Given the description of an element on the screen output the (x, y) to click on. 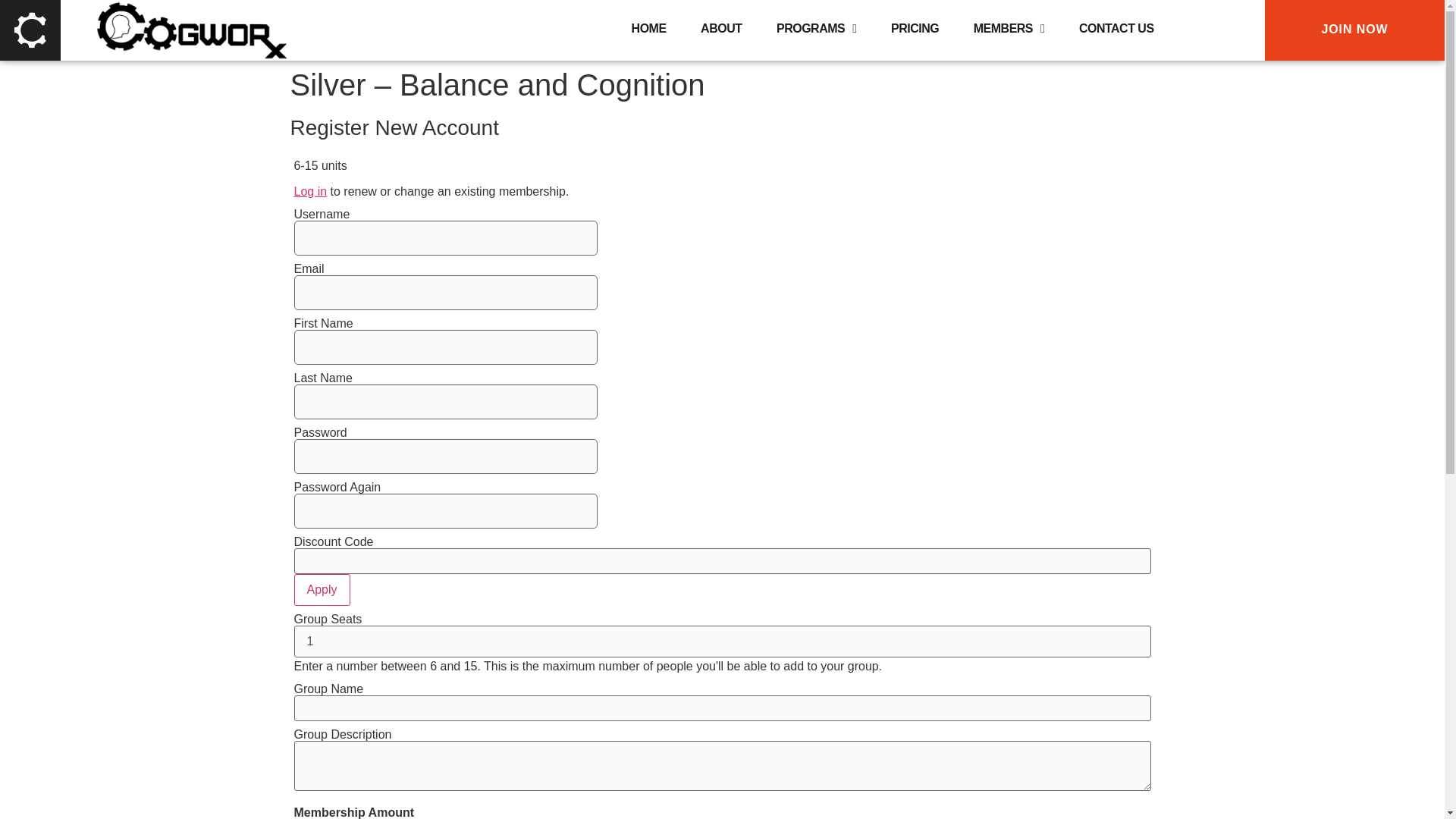
MEMBERS (1009, 28)
cog-copy.jpg (30, 30)
ABOUT (720, 28)
HOME (648, 28)
1 (722, 641)
CONTACT US (1116, 28)
PRICING (915, 28)
JOIN NOW (1354, 30)
PROGRAMS (816, 28)
cog-logo-inline-100.png (190, 30)
